Given the description of an element on the screen output the (x, y) to click on. 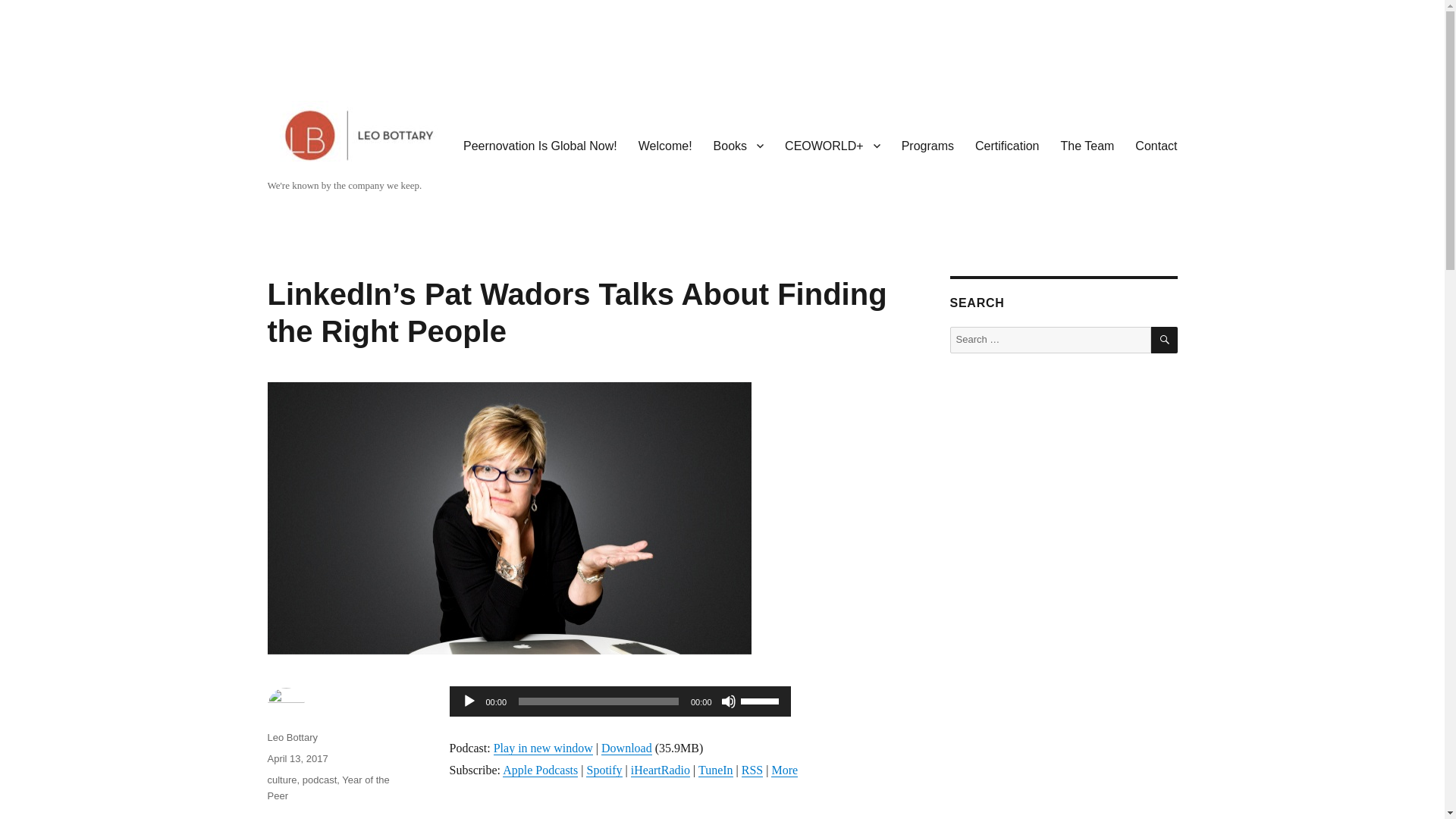
Welcome! (665, 145)
Certification (1006, 145)
Play (468, 701)
Play in new window (542, 748)
Books (738, 145)
More (784, 769)
iHeartRadio (660, 769)
Spotify (603, 769)
Subscribe on iHeartRadio (660, 769)
Programs (927, 145)
